Given the description of an element on the screen output the (x, y) to click on. 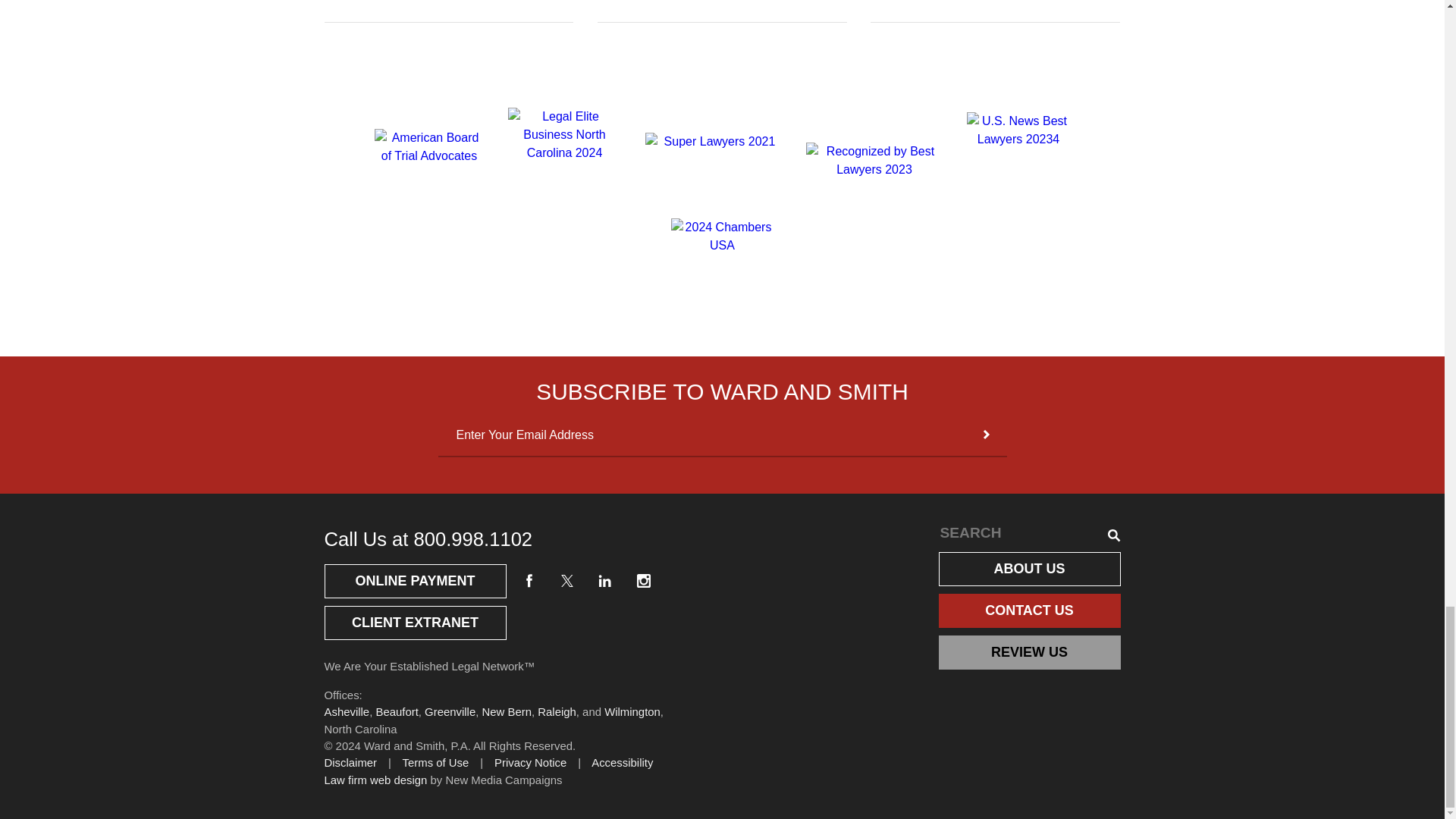
Law Firm Web Design by New Media Campaigns (376, 779)
